Given the description of an element on the screen output the (x, y) to click on. 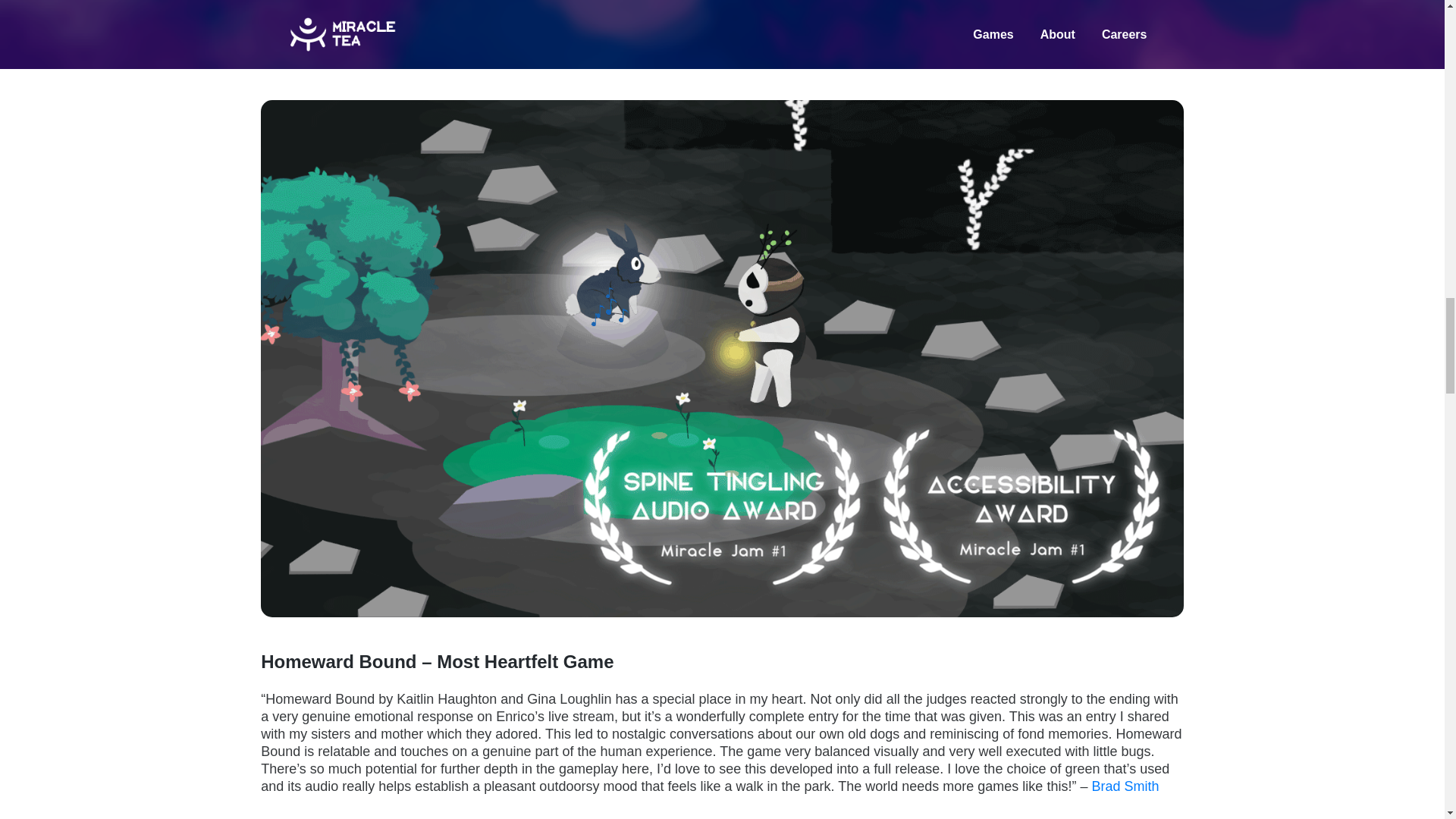
Brad Smith (1124, 785)
Enrico Ercole (797, 55)
